Given the description of an element on the screen output the (x, y) to click on. 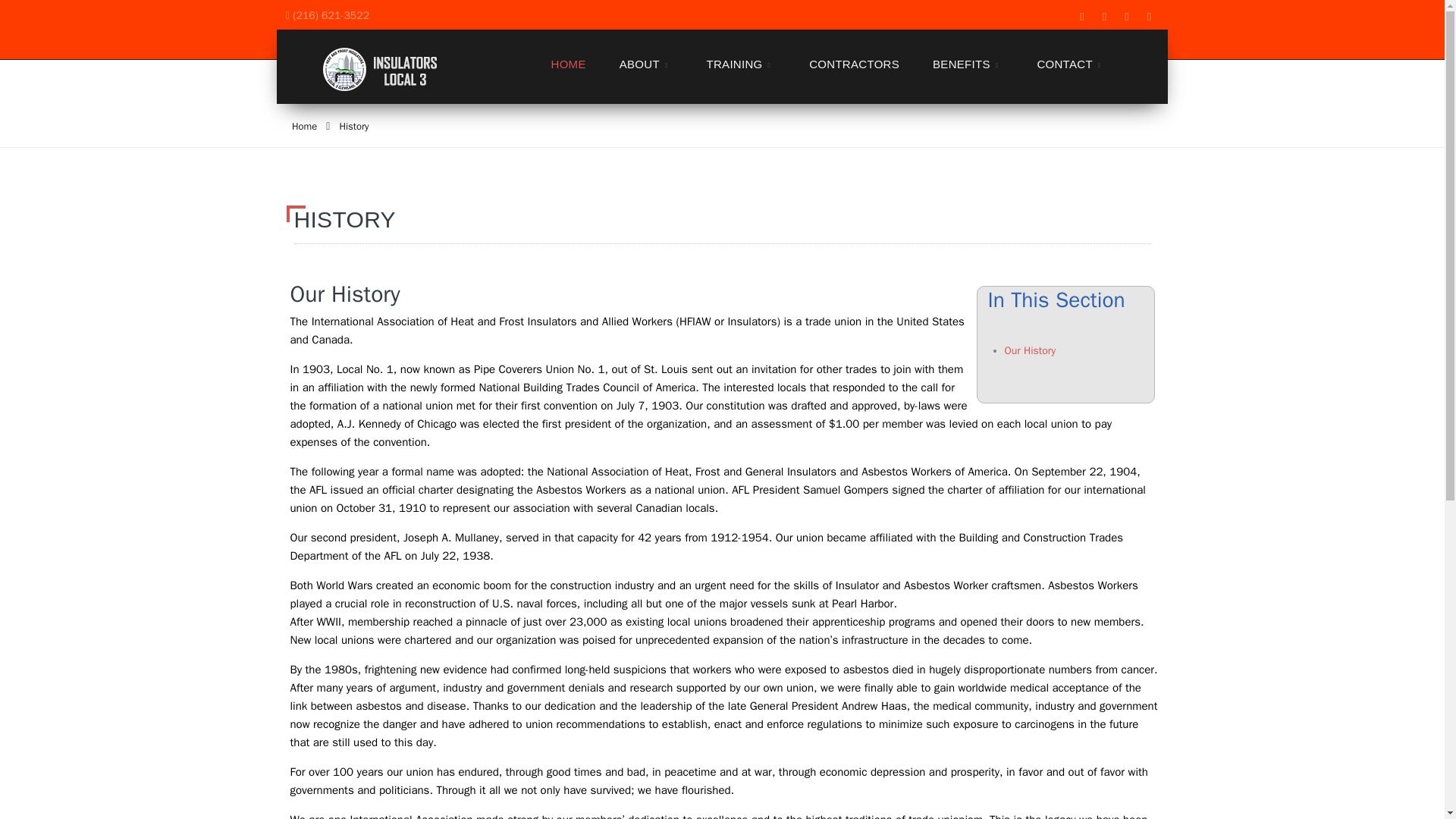
History (353, 125)
Our History (1029, 350)
HOME (569, 63)
CONTACT (1070, 63)
BENEFITS (967, 63)
ABOUT (646, 63)
Home (304, 125)
CONTRACTORS (854, 63)
TRAINING (740, 63)
